Given the description of an element on the screen output the (x, y) to click on. 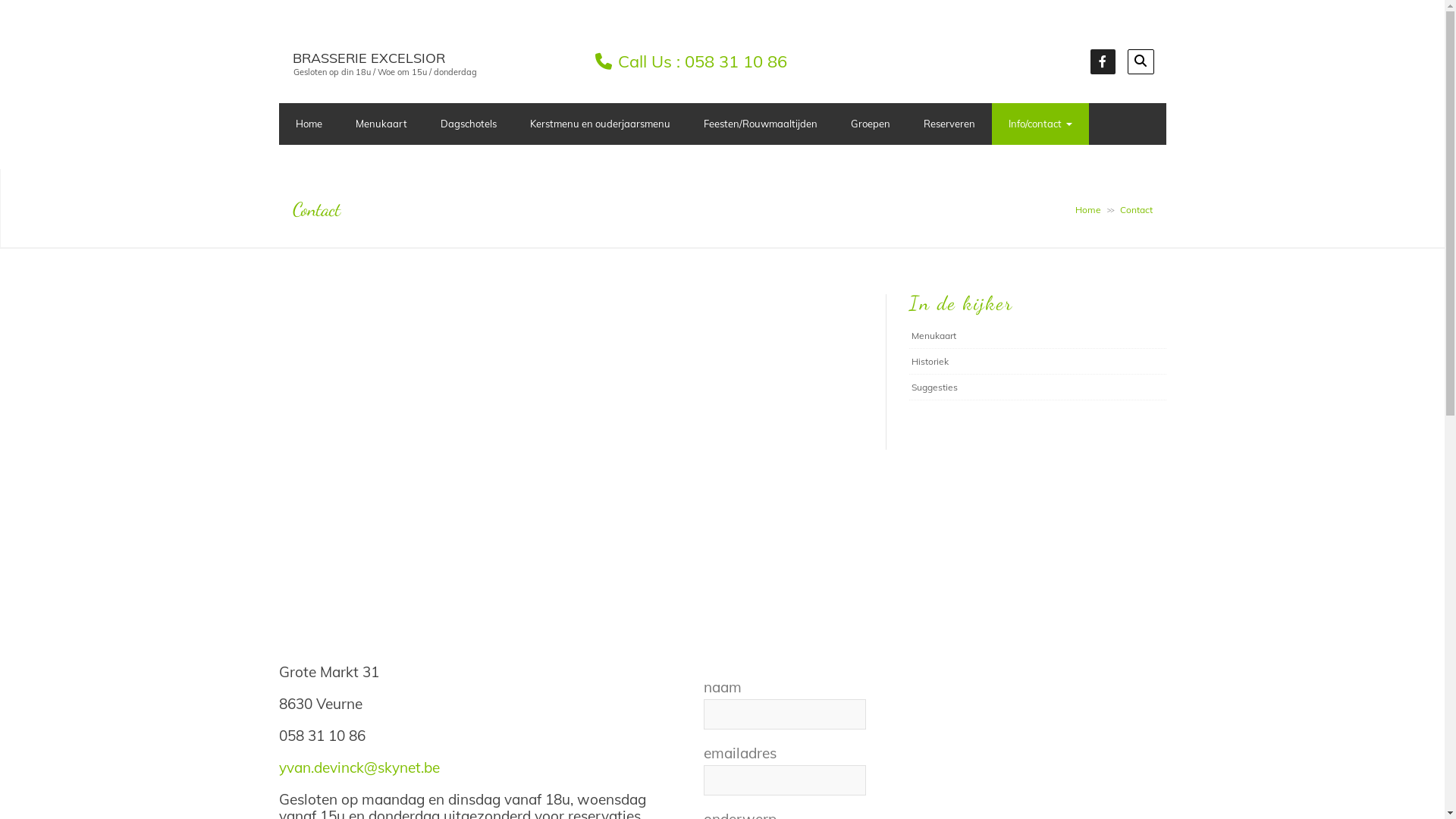
Suggesties Element type: text (934, 386)
search Element type: hover (1139, 61)
058 31 10 86 Element type: text (735, 61)
Dagschotels Element type: text (467, 123)
Info/contact Element type: text (1039, 123)
Feesten/Rouwmaaltijden Element type: text (760, 123)
yvan.devinck@skynet.be Element type: text (359, 767)
Menukaart Element type: text (933, 335)
Reserveren Element type: text (948, 123)
Home Element type: text (1088, 208)
Facebook Element type: hover (1102, 61)
Home Element type: text (308, 123)
BRASSERIE EXCELSIOR Element type: text (368, 57)
Kerstmenu en ouderjaarsmenu Element type: text (599, 123)
Groepen Element type: text (870, 123)
Menukaart Element type: text (380, 123)
Historiek Element type: text (929, 361)
